Given the description of an element on the screen output the (x, y) to click on. 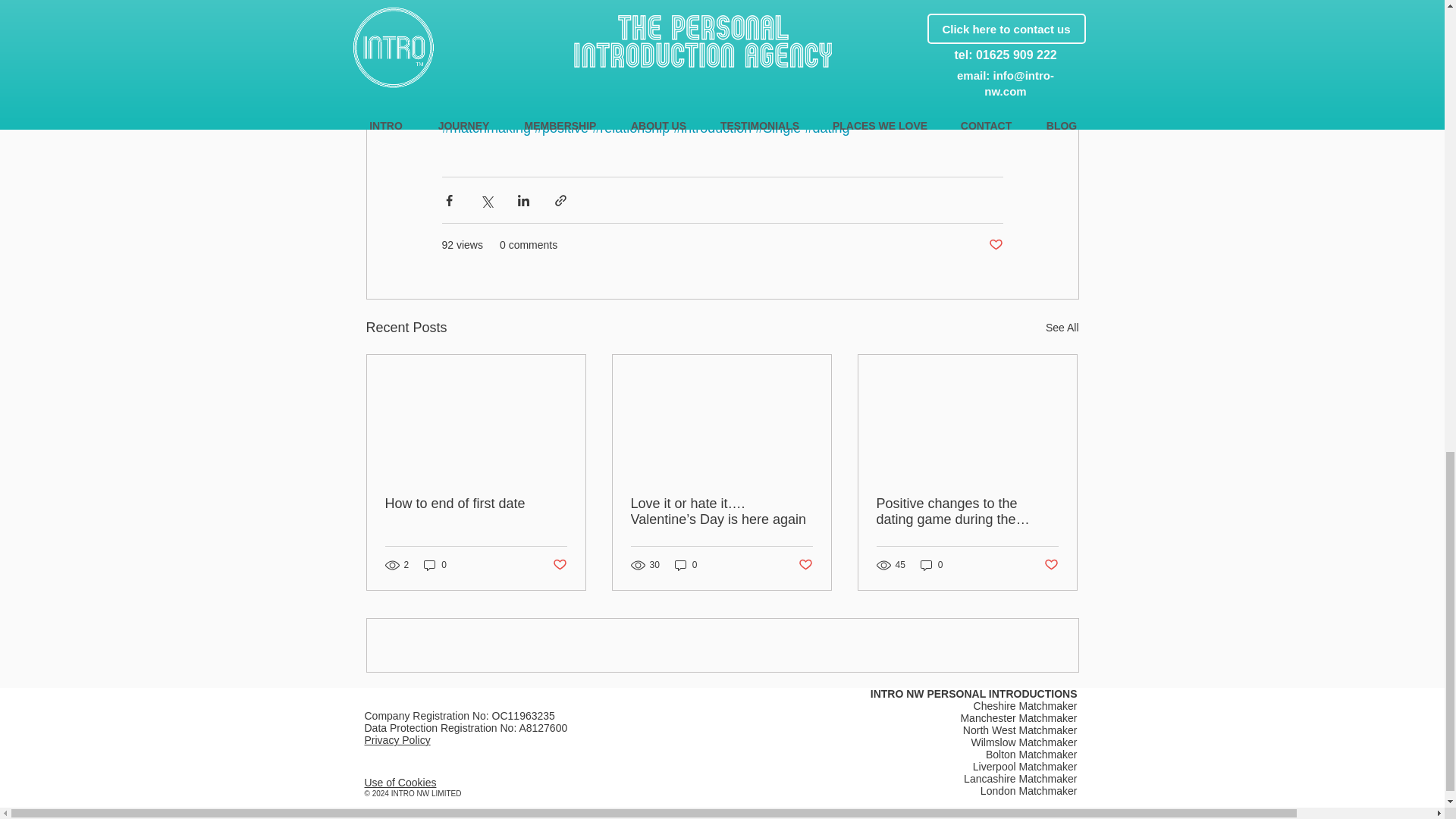
Post not marked as liked (558, 565)
0 (435, 564)
How to end of first date (476, 503)
Post not marked as liked (995, 245)
See All (1061, 327)
Post not marked as liked (804, 565)
0 (685, 564)
